Given the description of an element on the screen output the (x, y) to click on. 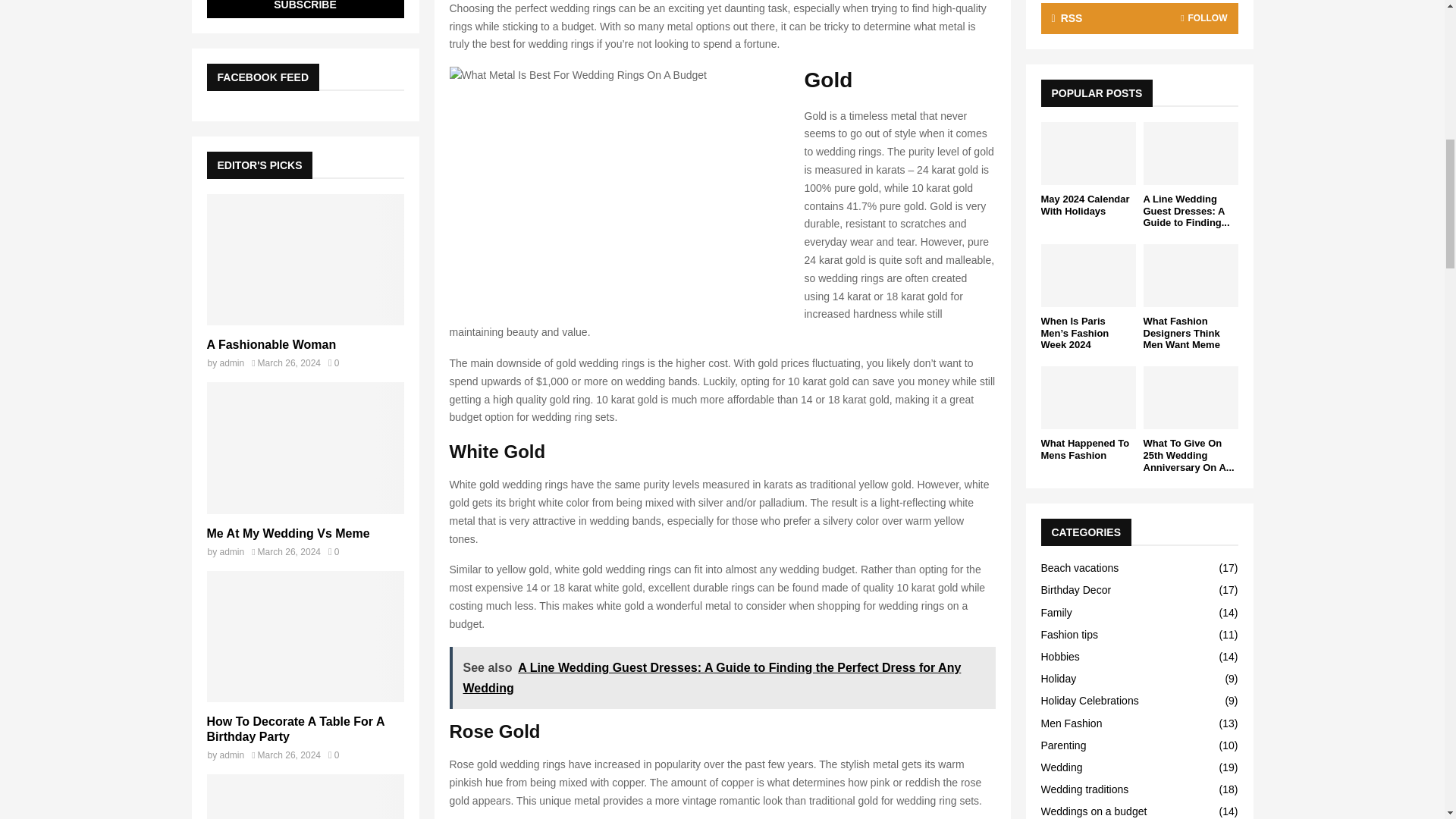
 Me At My Wedding Vs Meme  (287, 533)
A Fashionable Woman (304, 259)
 A Fashionable Woman  (271, 344)
Subscribe (304, 9)
How To Decorate A Table For A Birthday Party (304, 635)
Me At My Wedding Vs Meme (304, 447)
